Given the description of an element on the screen output the (x, y) to click on. 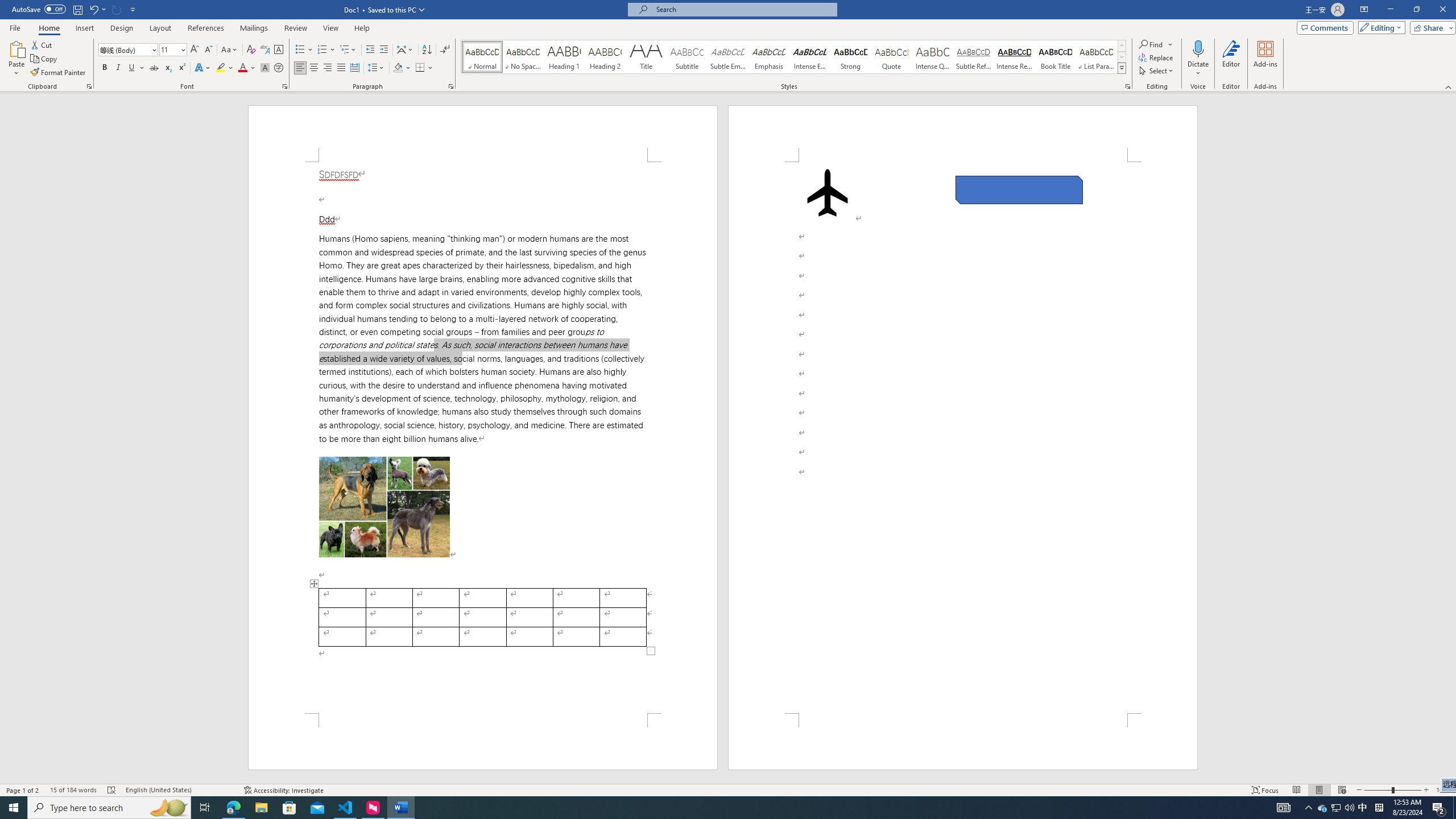
Character Border (278, 49)
Phonetic Guide... (264, 49)
Book Title (1055, 56)
Styles (1121, 67)
Superscript (180, 67)
AutomationID: QuickStylesGallery (794, 56)
